Given the description of an element on the screen output the (x, y) to click on. 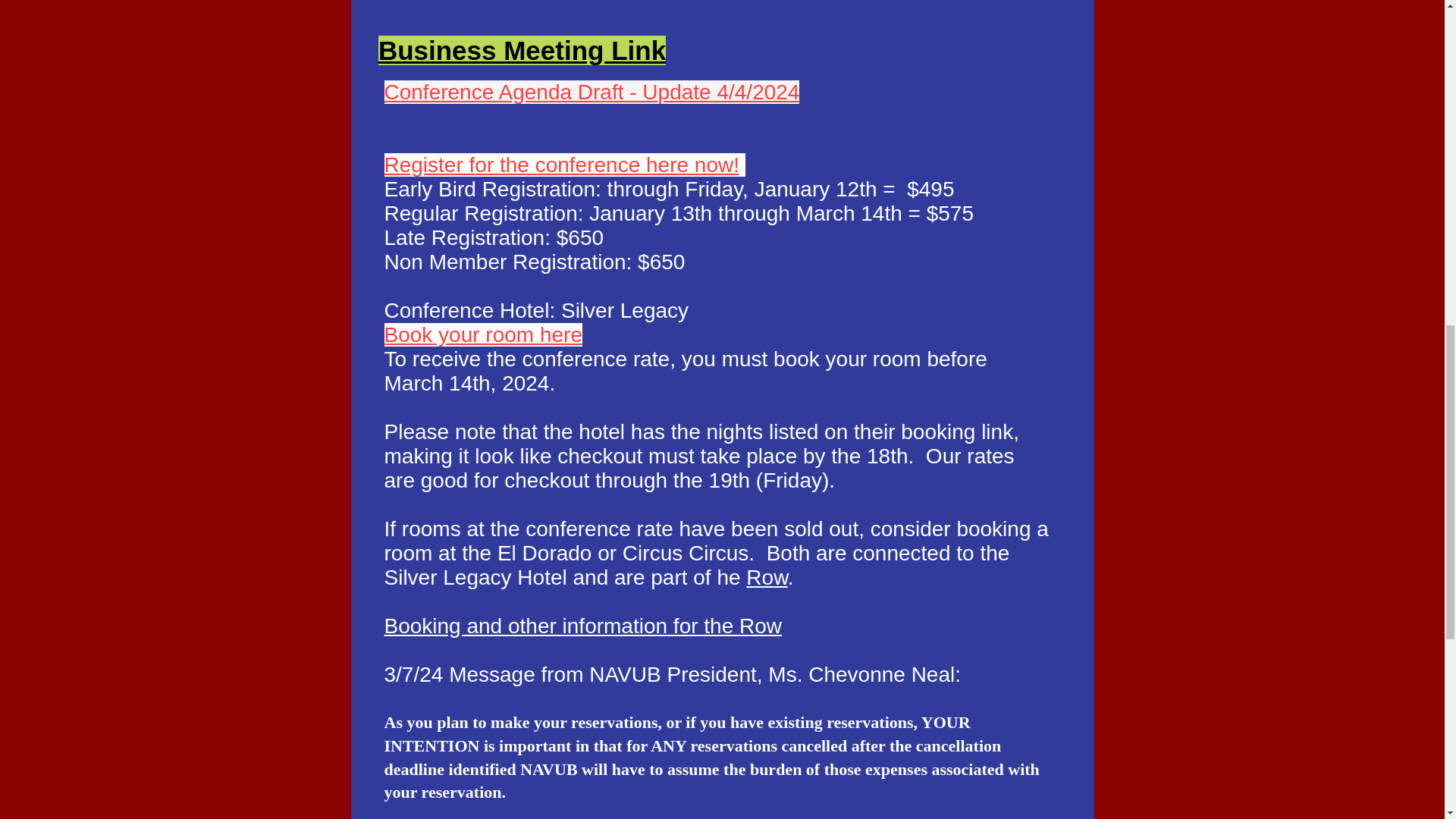
Book your room here (482, 334)
Business Meeting Link (521, 50)
Row (766, 576)
Register for the conference here now! (561, 164)
Booking and other information for the Row (582, 626)
